Given the description of an element on the screen output the (x, y) to click on. 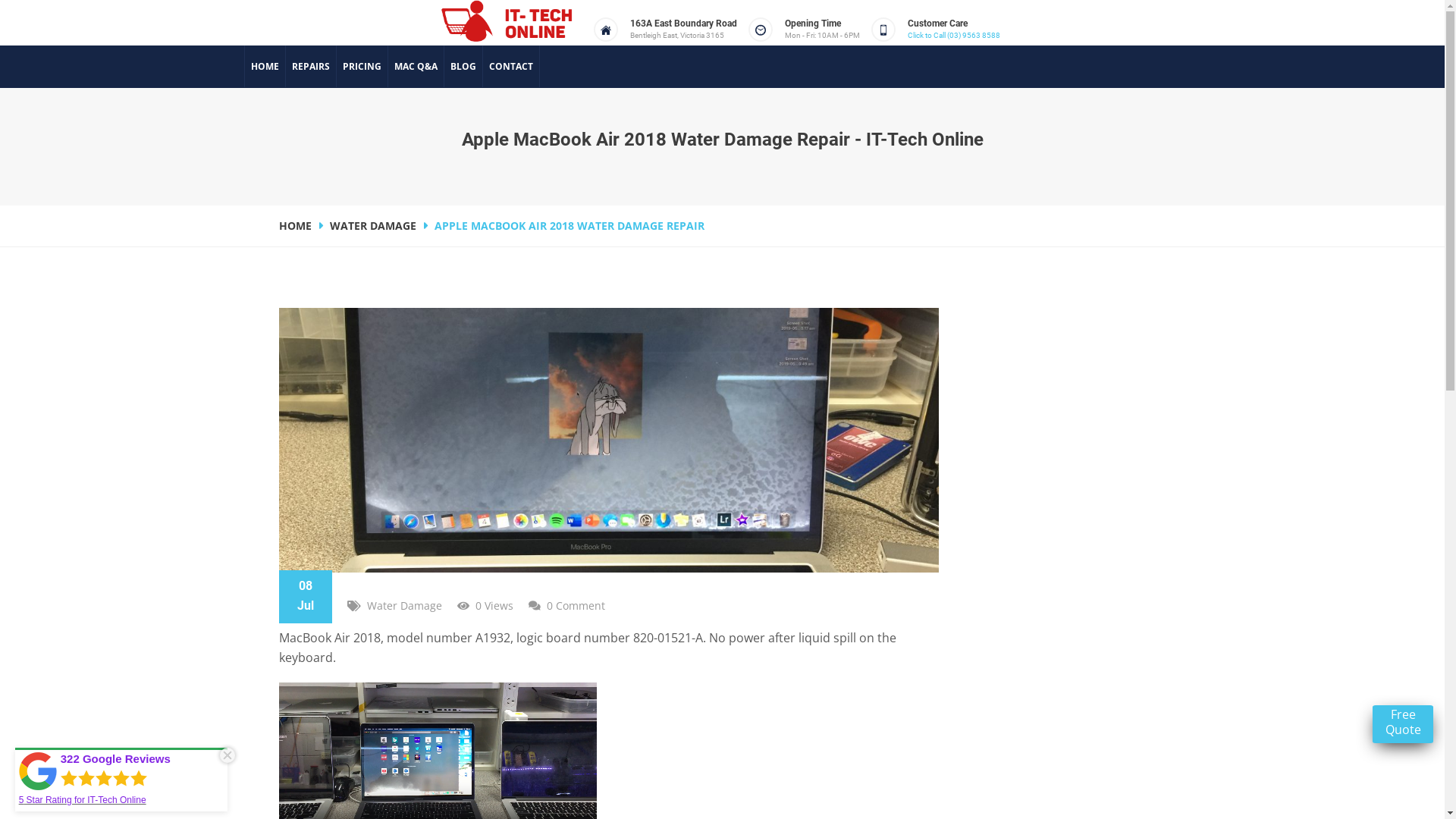
MAC Q&A Element type: text (415, 66)
BLOG Element type: text (463, 66)
 Star Rating for IT-Tech Online Element type: text (85, 799)
CONTACT Element type: text (511, 66)
WATER DAMAGE Element type: text (379, 225)
Free
Quote Element type: text (1402, 724)
0 Comment Element type: text (575, 605)
HOME Element type: text (264, 66)
Carl Su Element type: text (313, 605)
PRICING Element type: text (361, 66)
Water Damage Element type: text (404, 605)
HOME Element type: text (302, 225)
REPAIRS Element type: text (310, 66)
0 Views Element type: text (493, 605)
Click to Call (03) 9563 8588 Element type: text (952, 35)
5 Element type: text (21, 799)
